Given the description of an element on the screen output the (x, y) to click on. 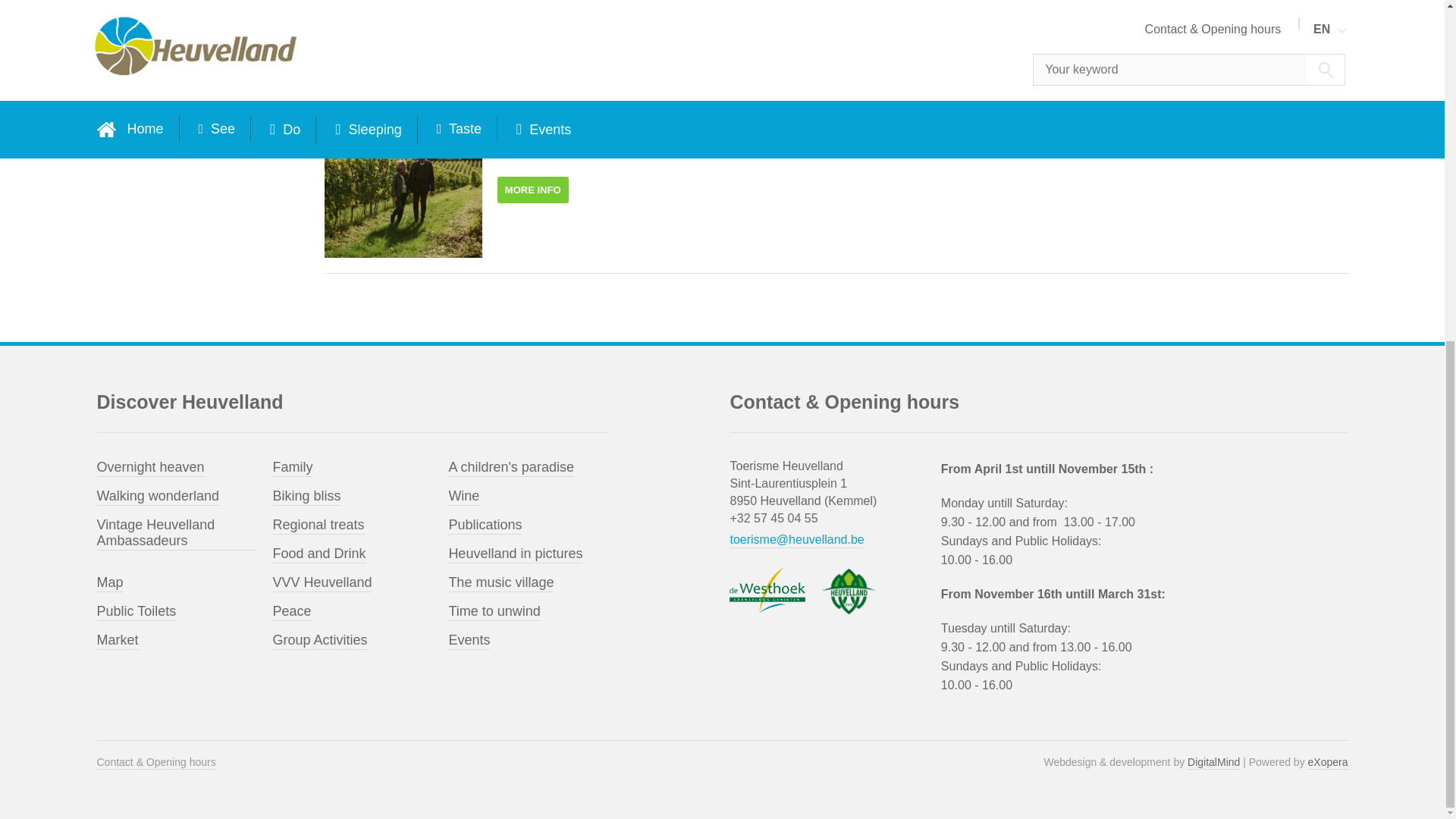
MORE INFO (533, 189)
Overnight heaven (151, 467)
A children's paradise (510, 467)
Family (292, 467)
MORE INFO (533, 6)
Entre-Deux-Monts Route (922, 107)
Biking bliss (306, 497)
Walking wonderland (158, 497)
